Given the description of an element on the screen output the (x, y) to click on. 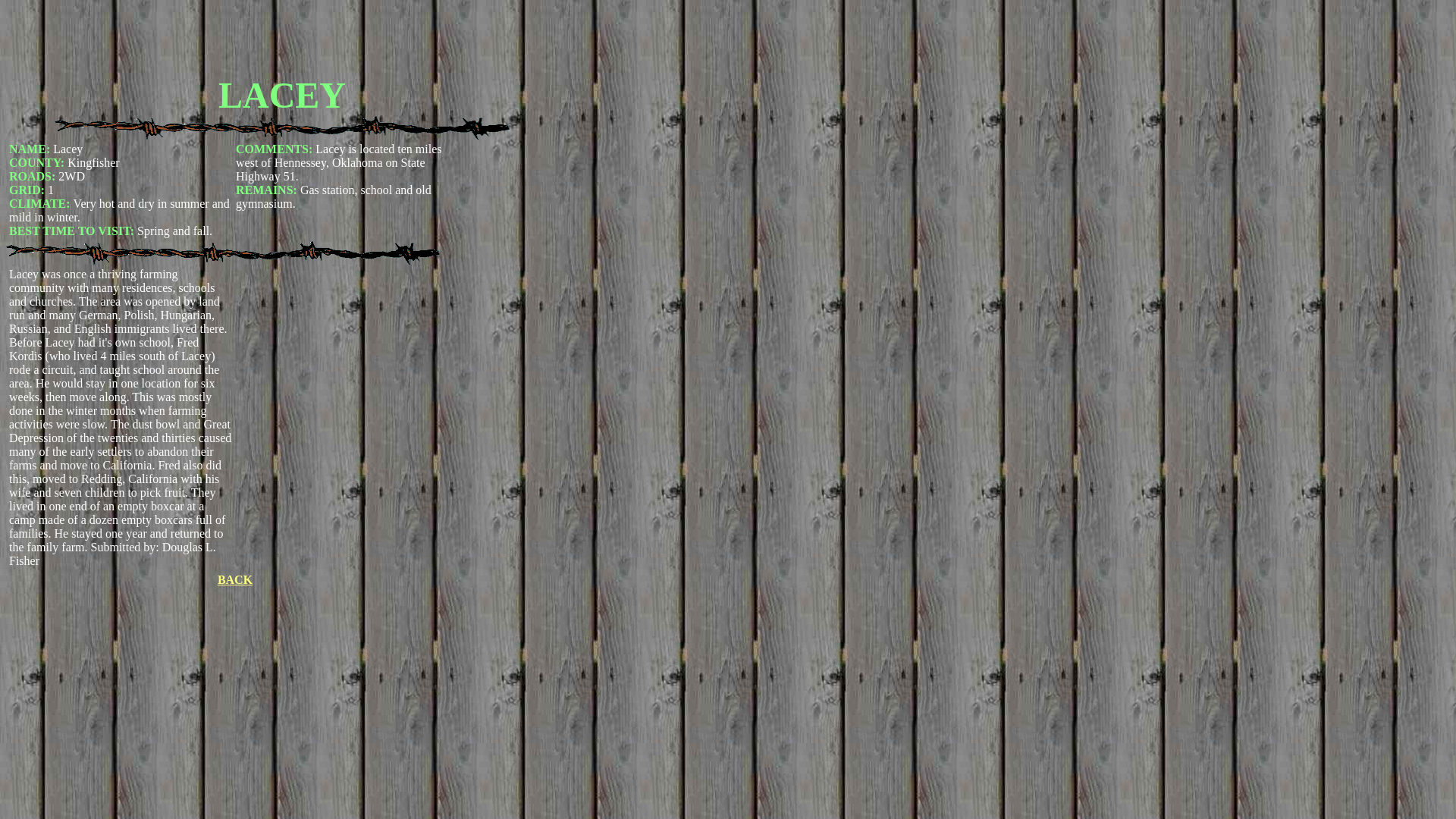
Advertisement (281, 39)
BACK (233, 579)
